Given the description of an element on the screen output the (x, y) to click on. 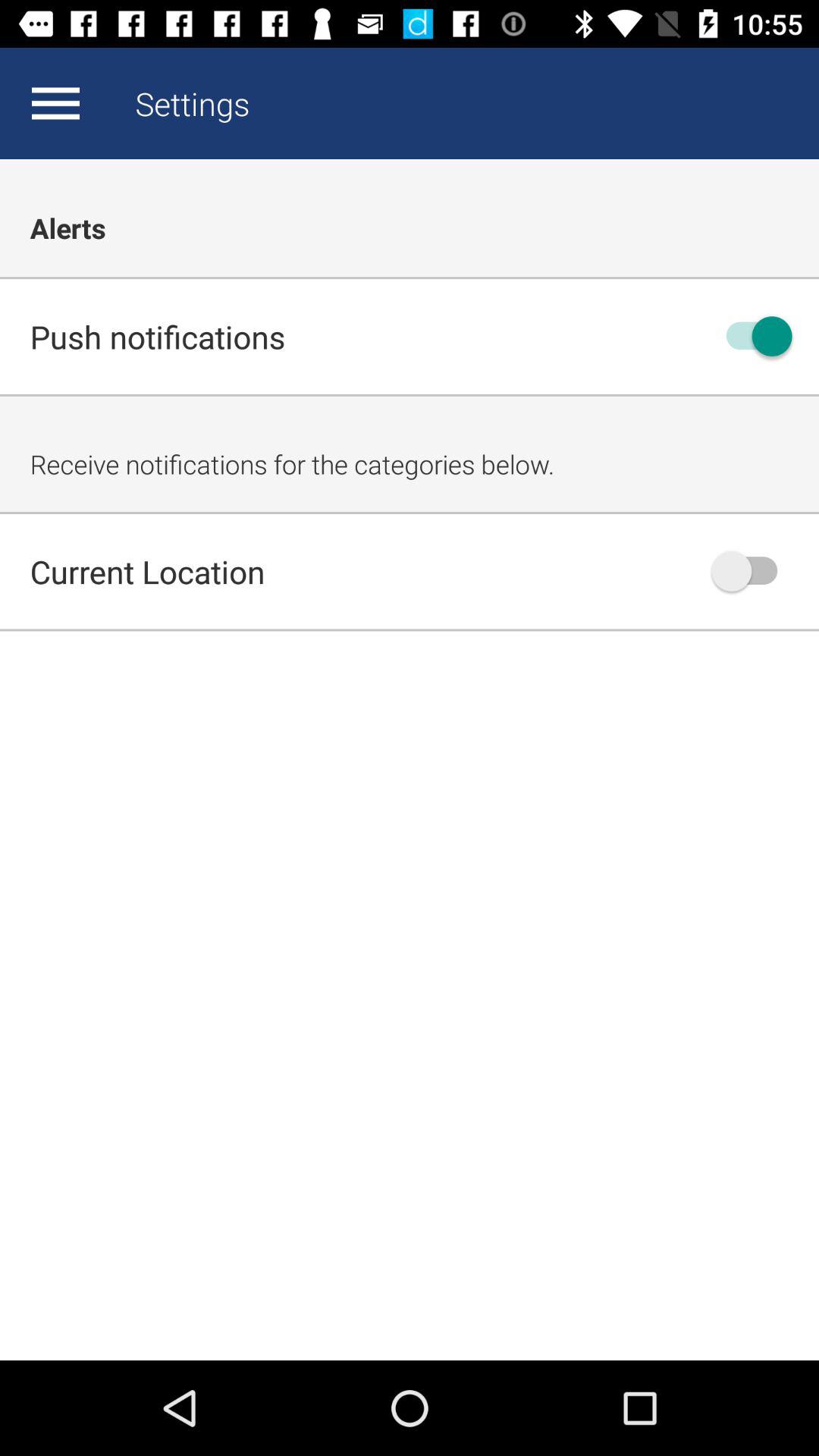
enable the location when we trigger this option (751, 571)
